Given the description of an element on the screen output the (x, y) to click on. 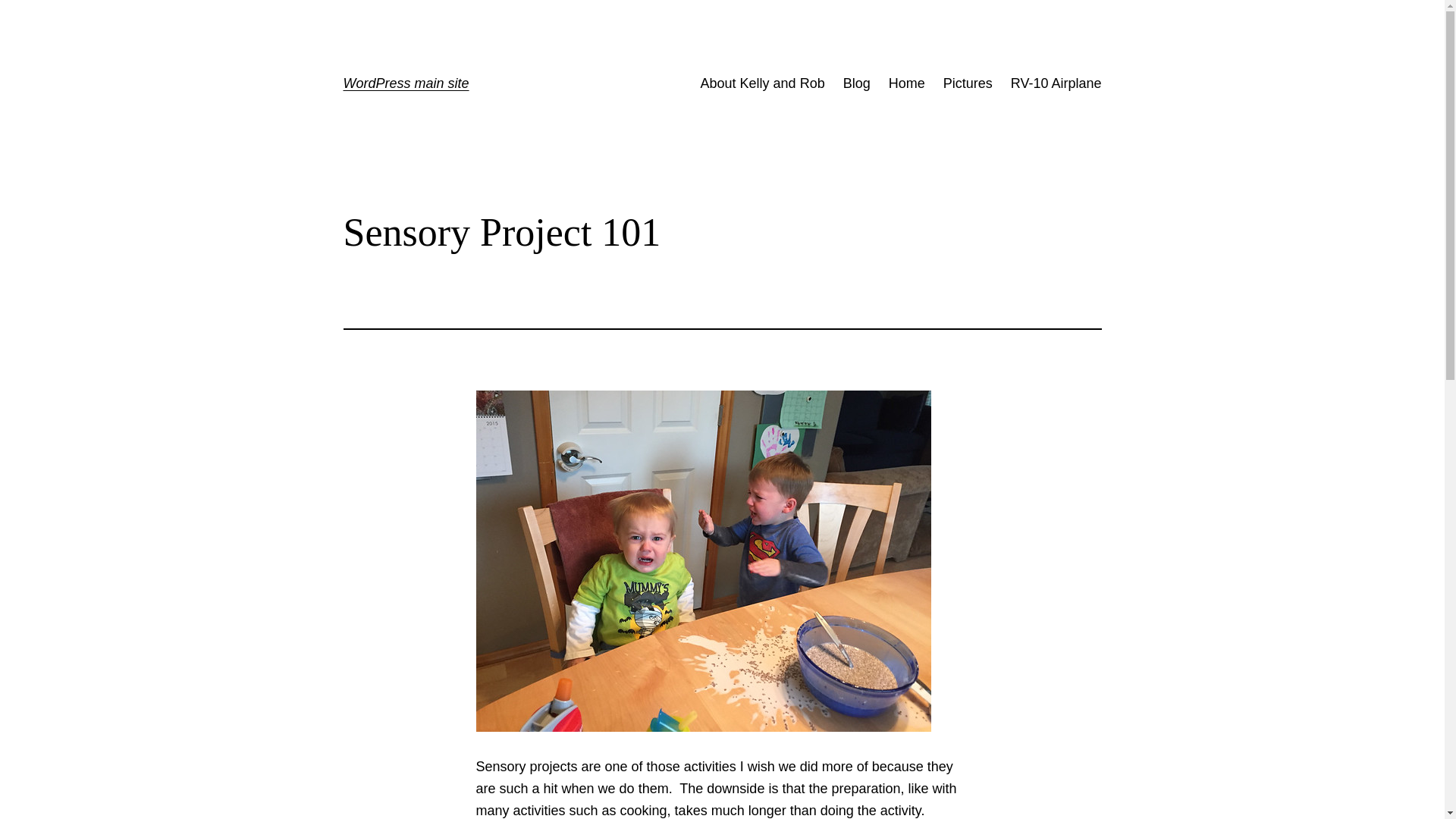
Home (906, 83)
Pictures (967, 83)
About Kelly and Rob (762, 83)
RV-10 Airplane (1056, 83)
WordPress main site (405, 83)
Blog (856, 83)
